Given the description of an element on the screen output the (x, y) to click on. 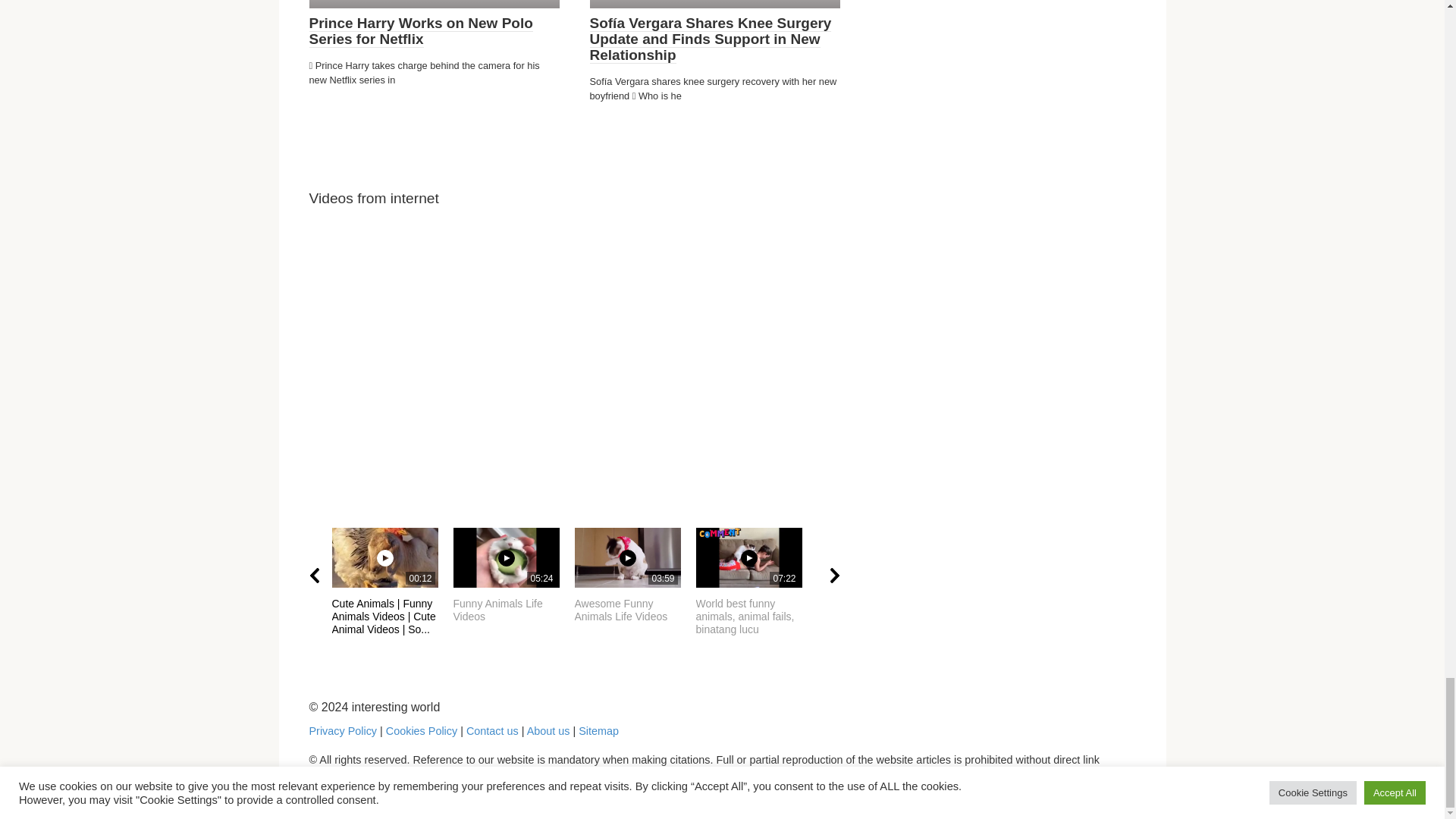
About us (548, 730)
Sitemap (598, 730)
Cookies Policy (421, 730)
Prince Harry Works on New Polo Series for Netflix (420, 31)
Contact us (755, 575)
Privacy Policy (513, 575)
